Given the description of an element on the screen output the (x, y) to click on. 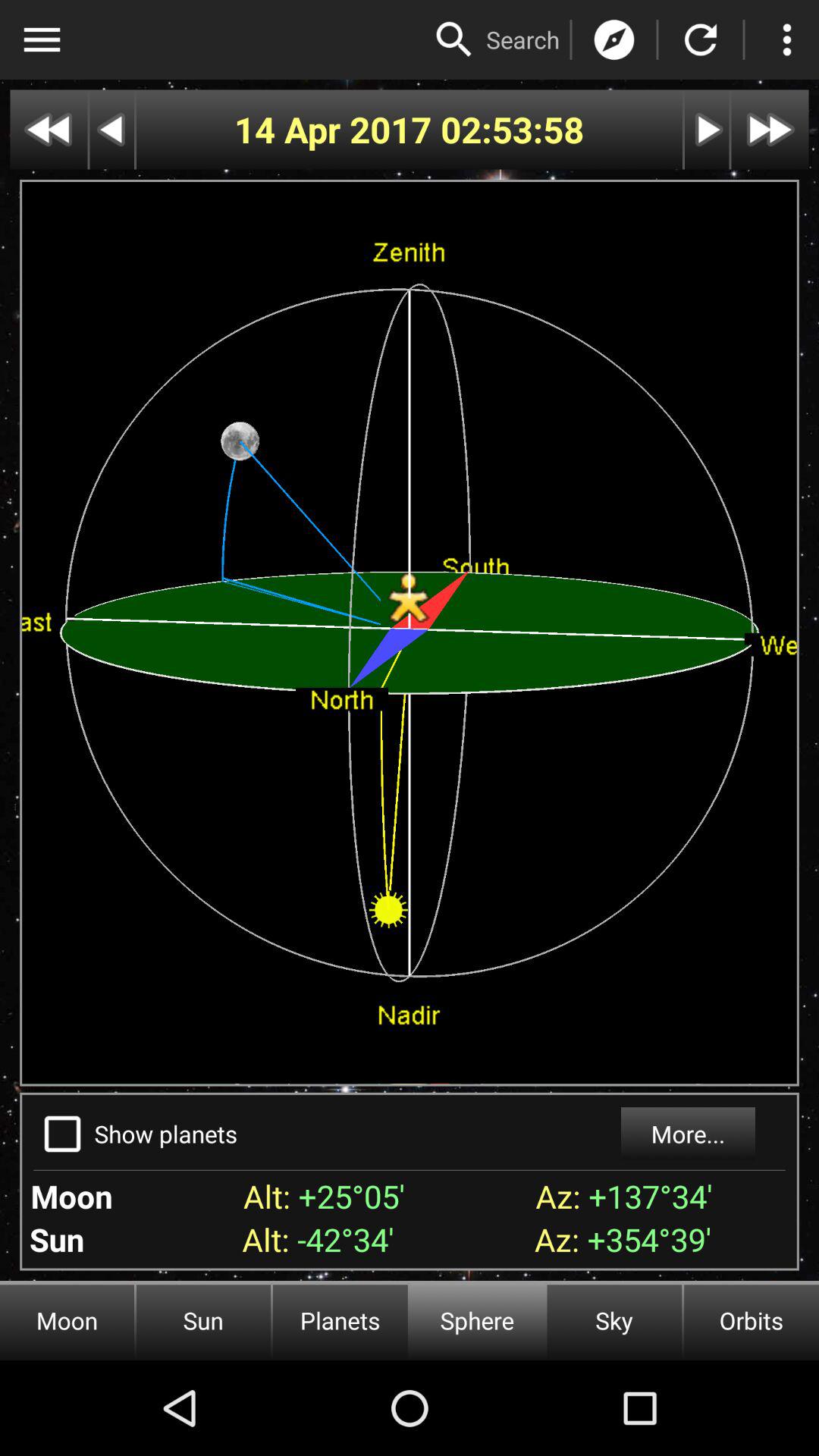
click on the three points (787, 39)
